Given the description of an element on the screen output the (x, y) to click on. 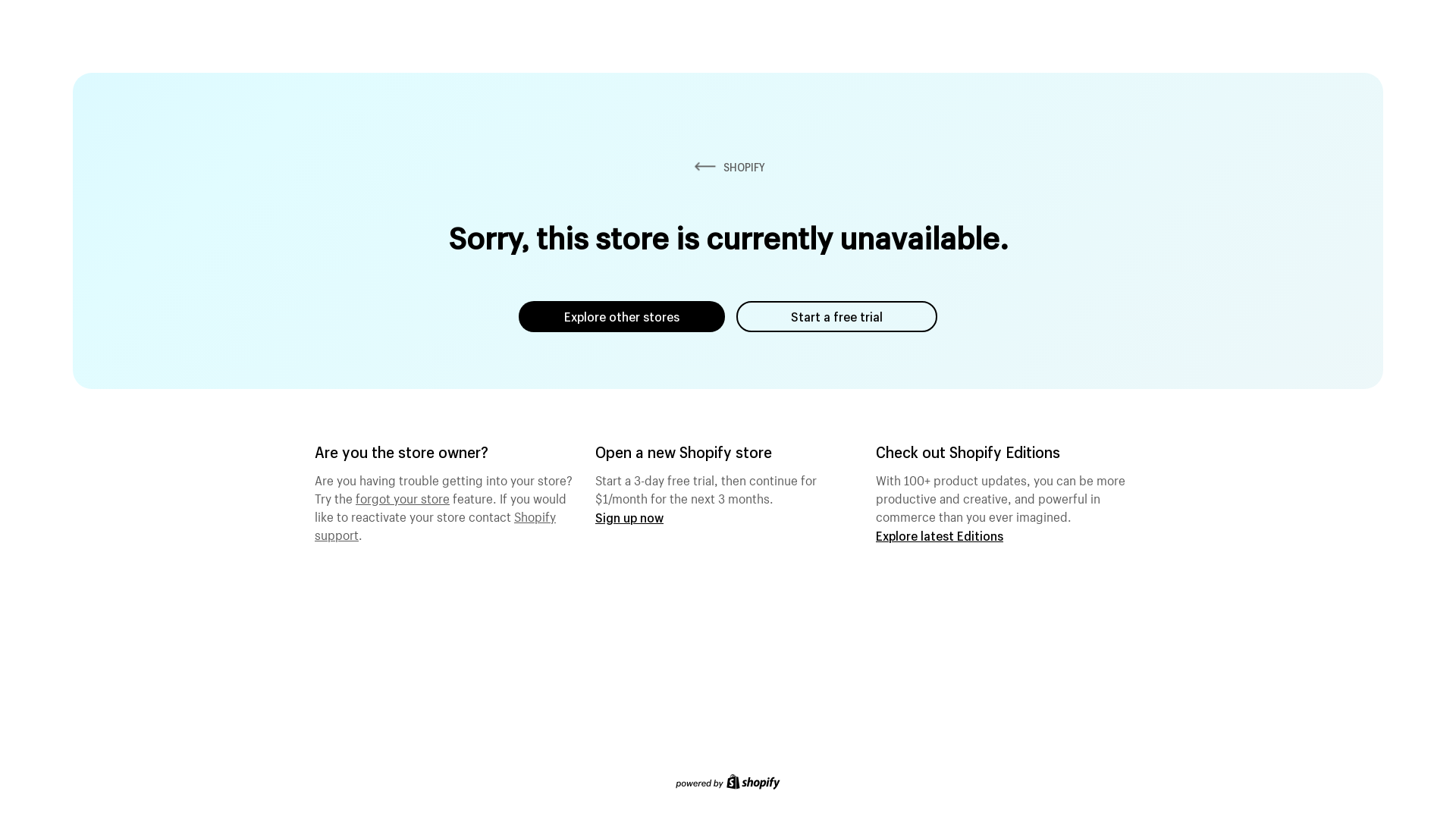
Explore latest Editions Element type: text (939, 535)
Shopify support Element type: text (434, 523)
forgot your store Element type: text (402, 496)
Sign up now Element type: text (629, 517)
Start a free trial Element type: text (836, 316)
SHOPIFY Element type: text (727, 167)
Explore other stores Element type: text (621, 316)
